Given the description of an element on the screen output the (x, y) to click on. 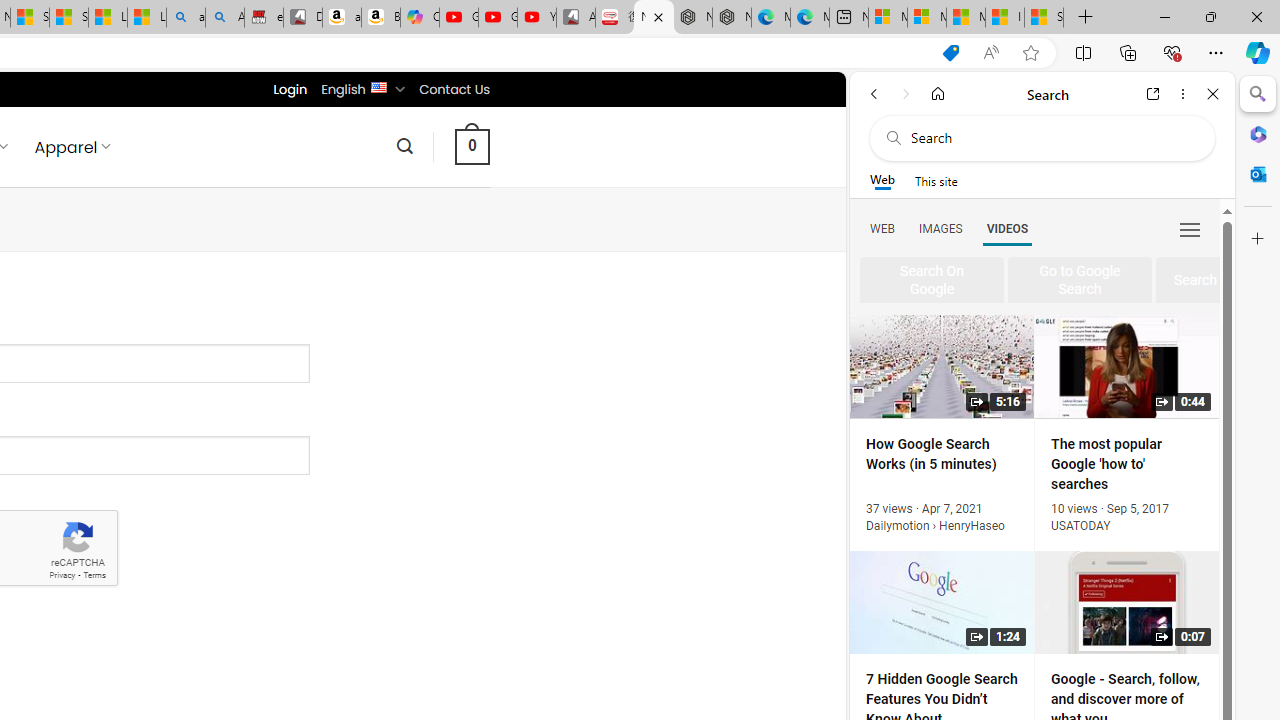
WEB (882, 228)
Nordace - My Account (653, 17)
IMAGES (939, 228)
Forward (906, 93)
Privacy (62, 575)
Web scope (882, 180)
Customize (1258, 239)
Open link in new tab (1153, 93)
